Given the description of an element on the screen output the (x, y) to click on. 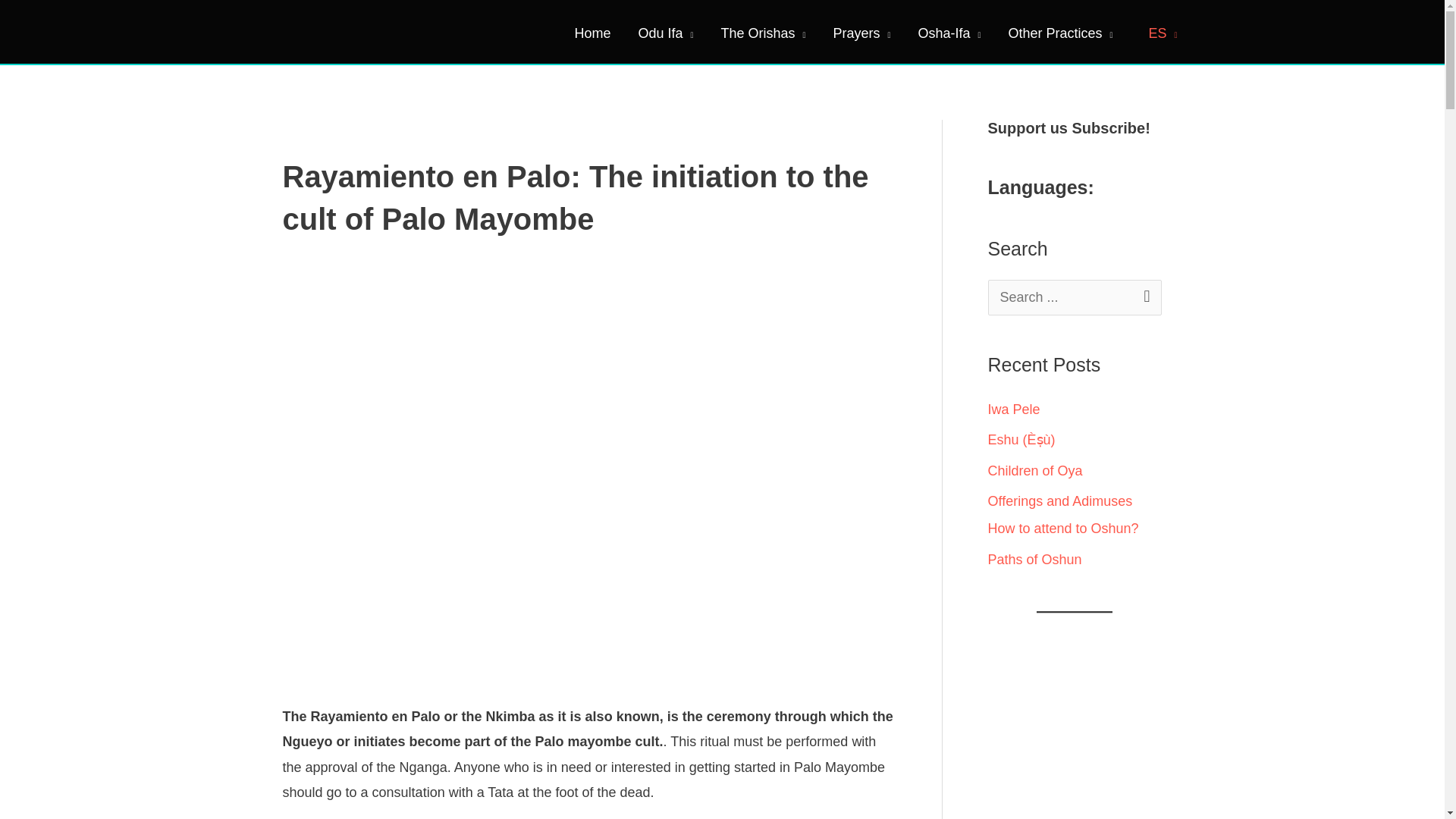
Search (1143, 296)
Search (1143, 296)
Odu Ifa (665, 33)
Prayers (861, 33)
Home (592, 33)
The Orishas (763, 33)
